Given the description of an element on the screen output the (x, y) to click on. 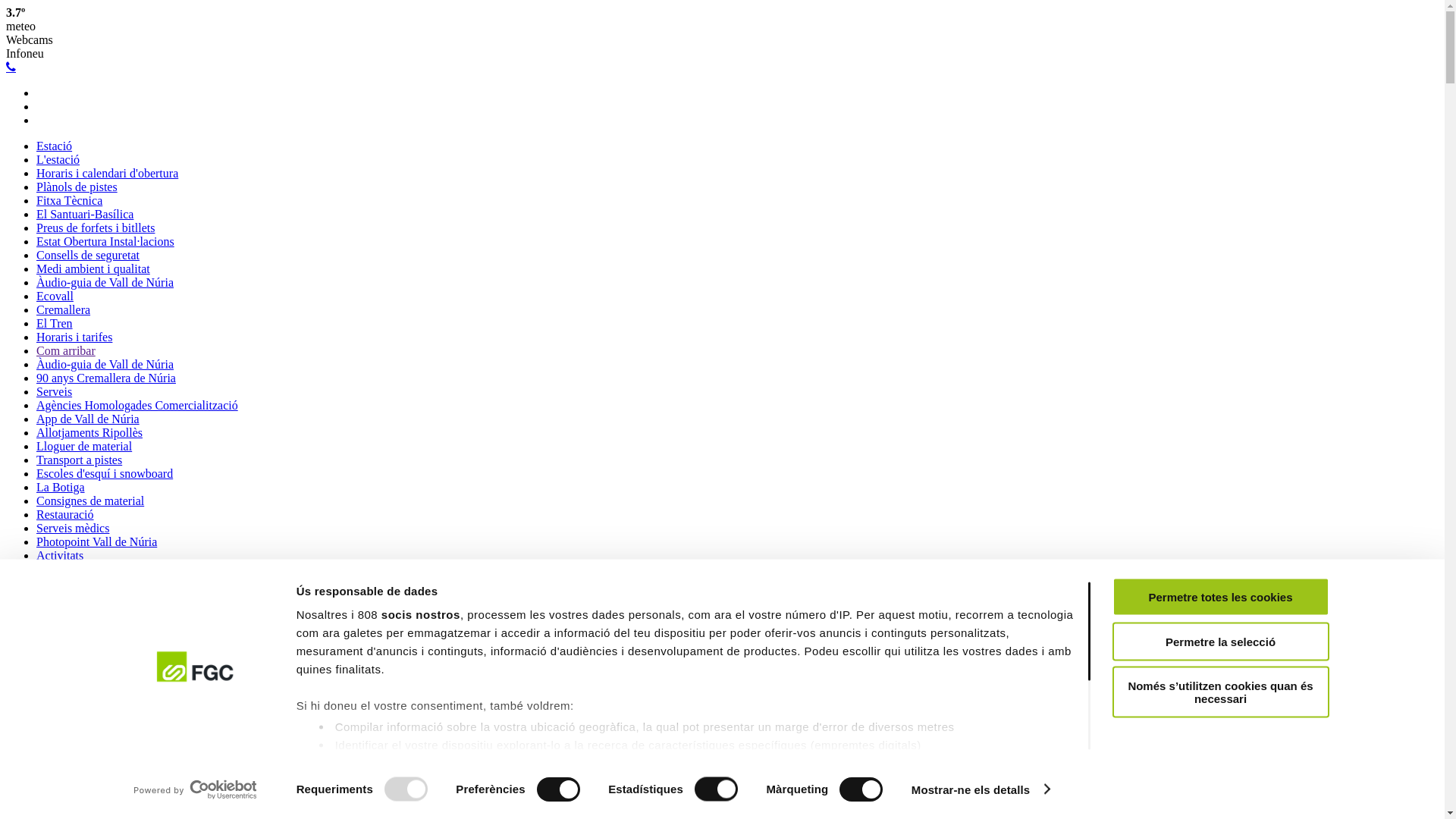
Transport a pistes Element type: text (79, 459)
Exposicions Element type: text (65, 650)
El Tren Element type: text (54, 322)
Visites guiades Element type: text (72, 705)
La Botiga Element type: text (60, 486)
Serveis Element type: text (54, 391)
Ecovall Element type: text (54, 295)
Busseig sota el gel Element type: text (81, 595)
Horaris i tarifes Element type: text (74, 336)
Preus de forfets i bitllets Element type: text (95, 227)
Raquetes de neu Element type: text (76, 664)
Botiga Element type: text (52, 759)
Forfets Element type: text (53, 773)
Actualitat Element type: text (60, 718)
Com arribar Element type: text (65, 350)
socis nostros Element type: text (420, 614)
Consells de seguretat Element type: text (87, 254)
Horaris i calendari d'obertura Element type: text (107, 172)
Esdeveniments Element type: text (72, 732)
Mostrar-ne els detalls Element type: text (980, 789)
Bitllets de Cremallera Element type: text (89, 800)
Activitats Element type: text (59, 555)
Lloguer de material Element type: text (83, 445)
Medi ambient i qualitat Element type: text (93, 268)
Permetre totes les cookies Element type: text (1219, 596)
Cremallera Element type: text (63, 309)
Consignes de material Element type: text (90, 500)
